Given the description of an element on the screen output the (x, y) to click on. 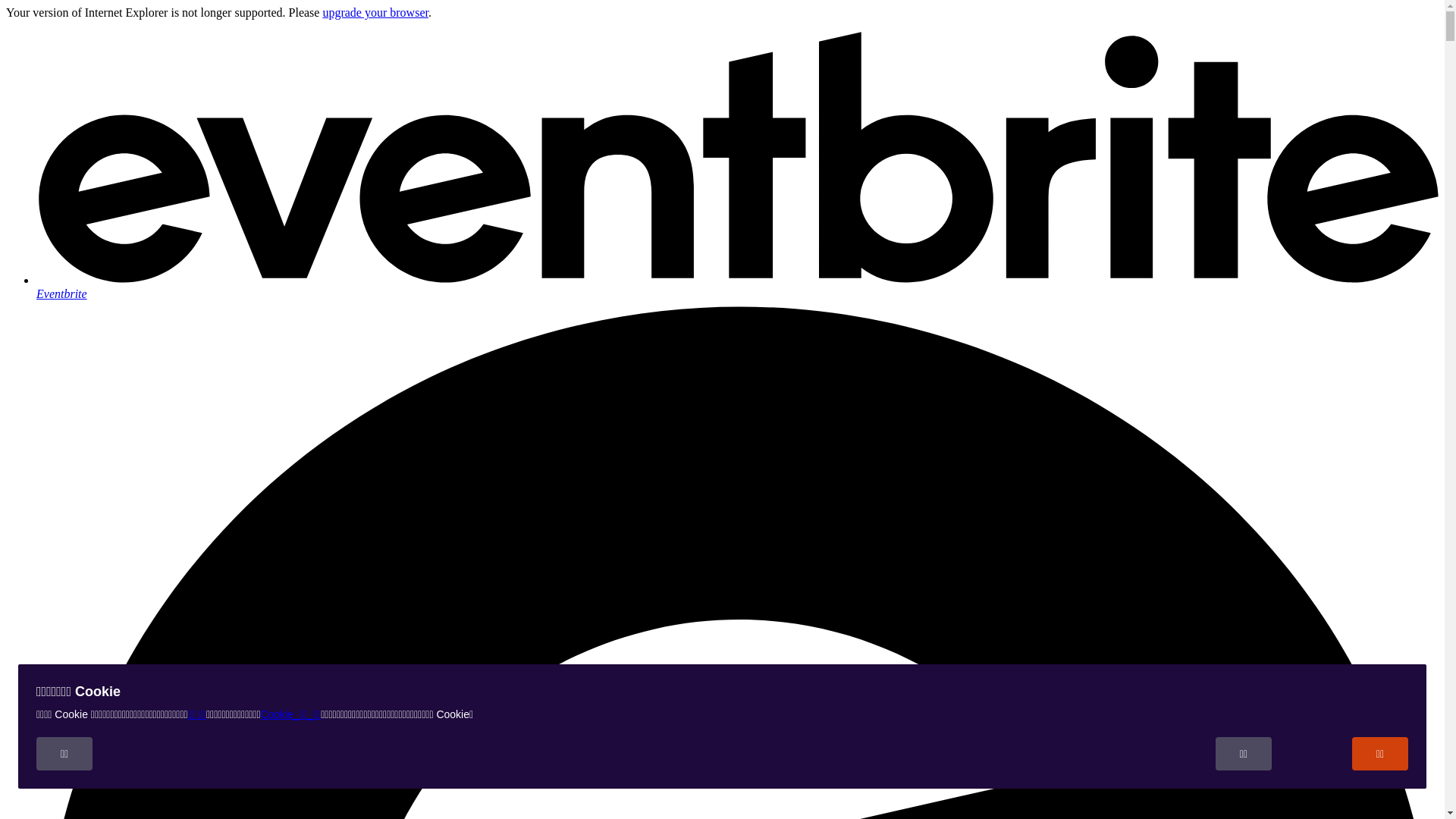
upgrade your browser Element type: text (375, 12)
Eventbrite Element type: text (737, 286)
